Given the description of an element on the screen output the (x, y) to click on. 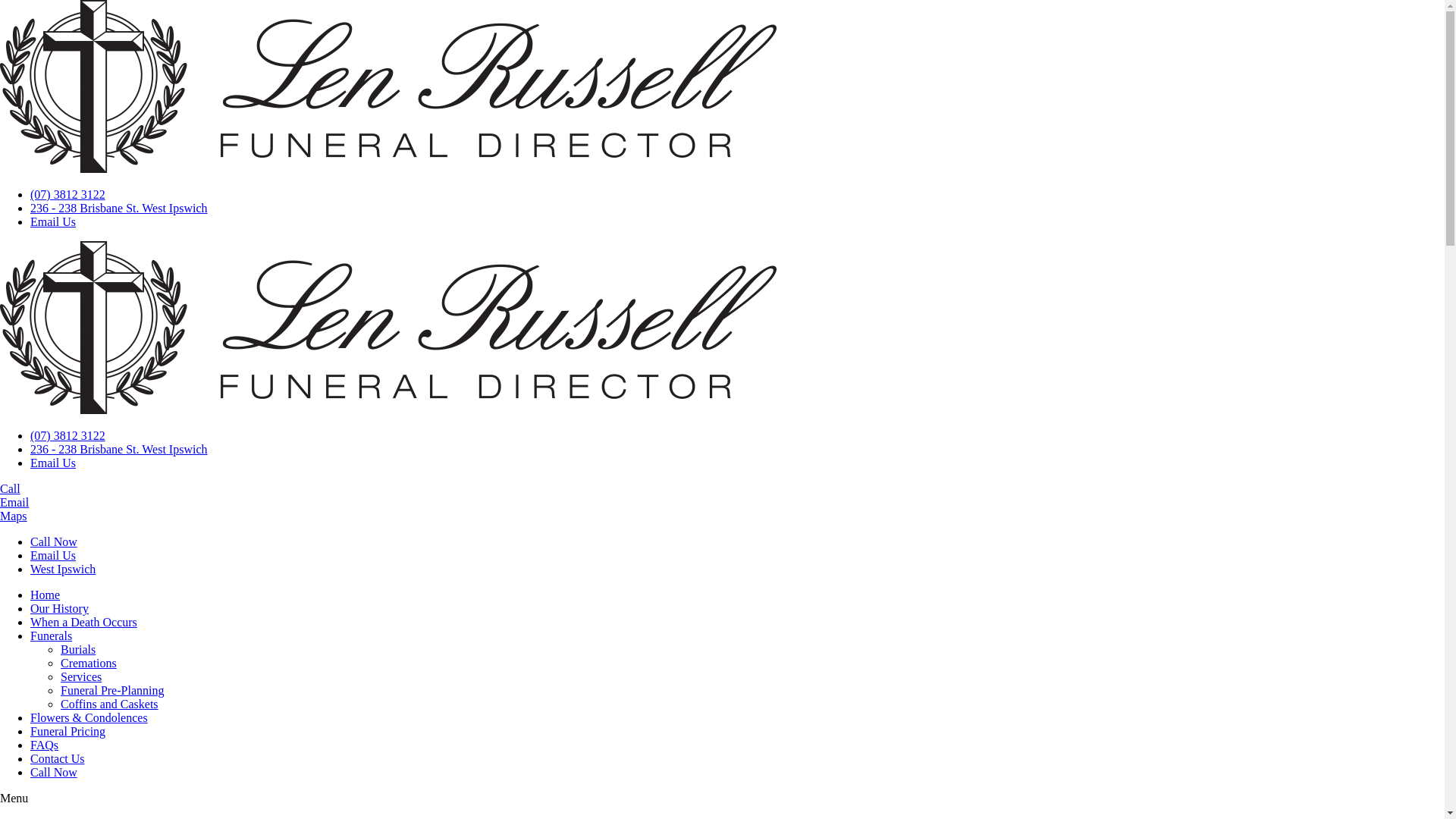
Call Element type: text (10, 488)
Flowers & Condolences Element type: text (88, 717)
236 - 238 Brisbane St. West Ipswich Element type: text (118, 207)
Services Element type: text (80, 676)
(07) 3812 3122 Element type: text (67, 435)
Maps Element type: text (13, 515)
(07) 3812 3122 Element type: text (67, 194)
Call Now Element type: text (53, 541)
Funerals Element type: text (51, 635)
FAQs Element type: text (44, 744)
Funeral Pricing Element type: text (67, 730)
Coffins and Caskets Element type: text (109, 703)
Home Element type: text (44, 594)
Call Now Element type: text (53, 771)
Funeral Pre-Planning Element type: text (111, 690)
236 - 238 Brisbane St. West Ipswich Element type: text (118, 448)
Contact Us Element type: text (57, 758)
Cremations Element type: text (88, 662)
Email Us Element type: text (52, 221)
When a Death Occurs Element type: text (83, 621)
Email Element type: text (14, 501)
West Ipswich Element type: text (62, 568)
Burials Element type: text (77, 649)
Our History Element type: text (59, 608)
Email Us Element type: text (52, 462)
Email Us Element type: text (52, 555)
